Given the description of an element on the screen output the (x, y) to click on. 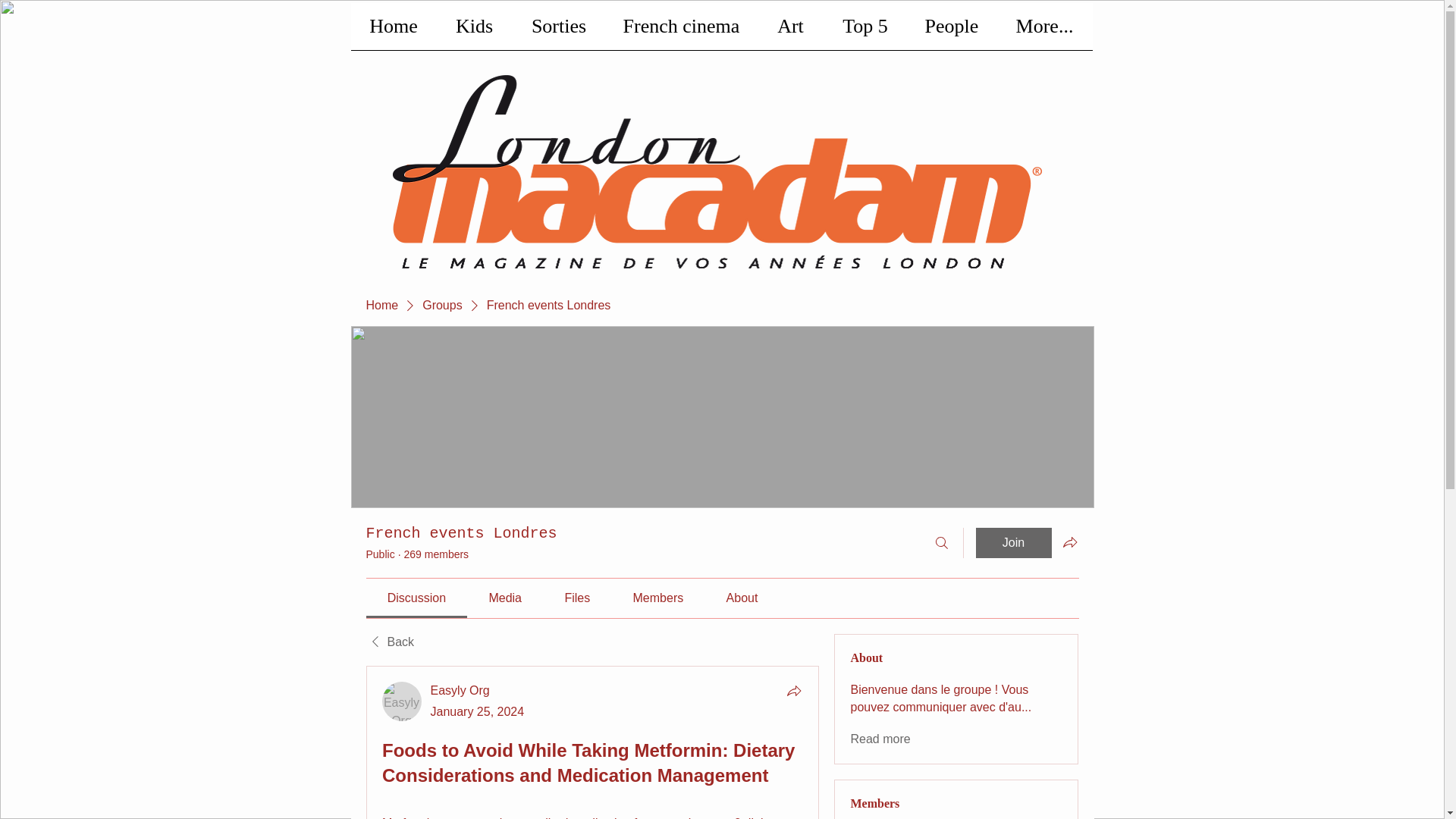
Easyly Org (459, 689)
Home (392, 31)
Easyly Org (401, 701)
Art (790, 31)
January 25, 2024 (477, 711)
Back (389, 641)
Top 5 (864, 31)
Groups (441, 305)
Join (1013, 542)
People (952, 31)
